Given the description of an element on the screen output the (x, y) to click on. 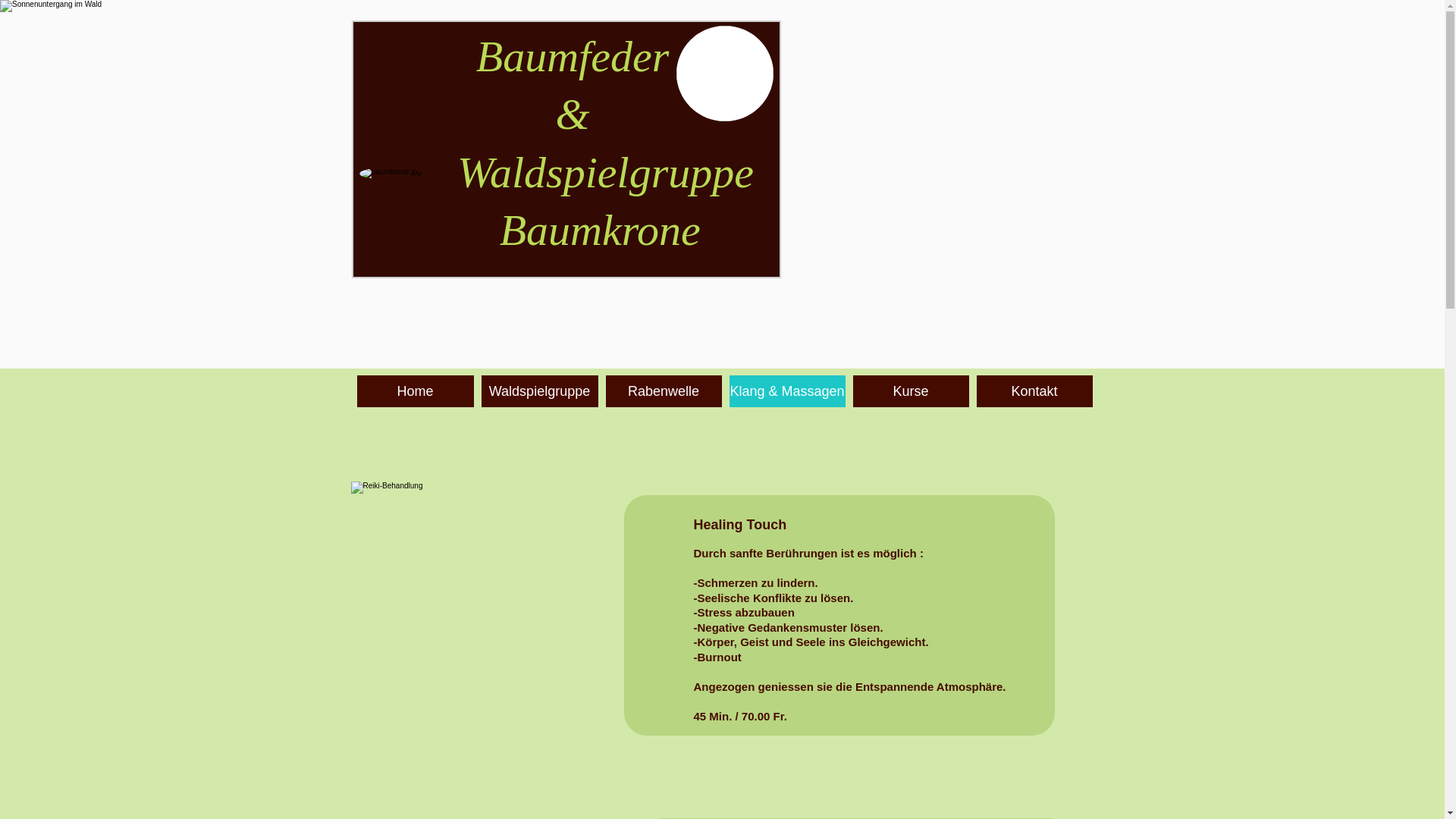
Baumfeder Element type: text (572, 56)
Klang & Massagen Element type: text (787, 391)
Waldspielgruppe Element type: text (538, 391)
Rabenwelle Element type: text (663, 391)
Home Element type: text (414, 391)
Kurse Element type: text (910, 391)
Kontakt Element type: text (1034, 391)
